Given the description of an element on the screen output the (x, y) to click on. 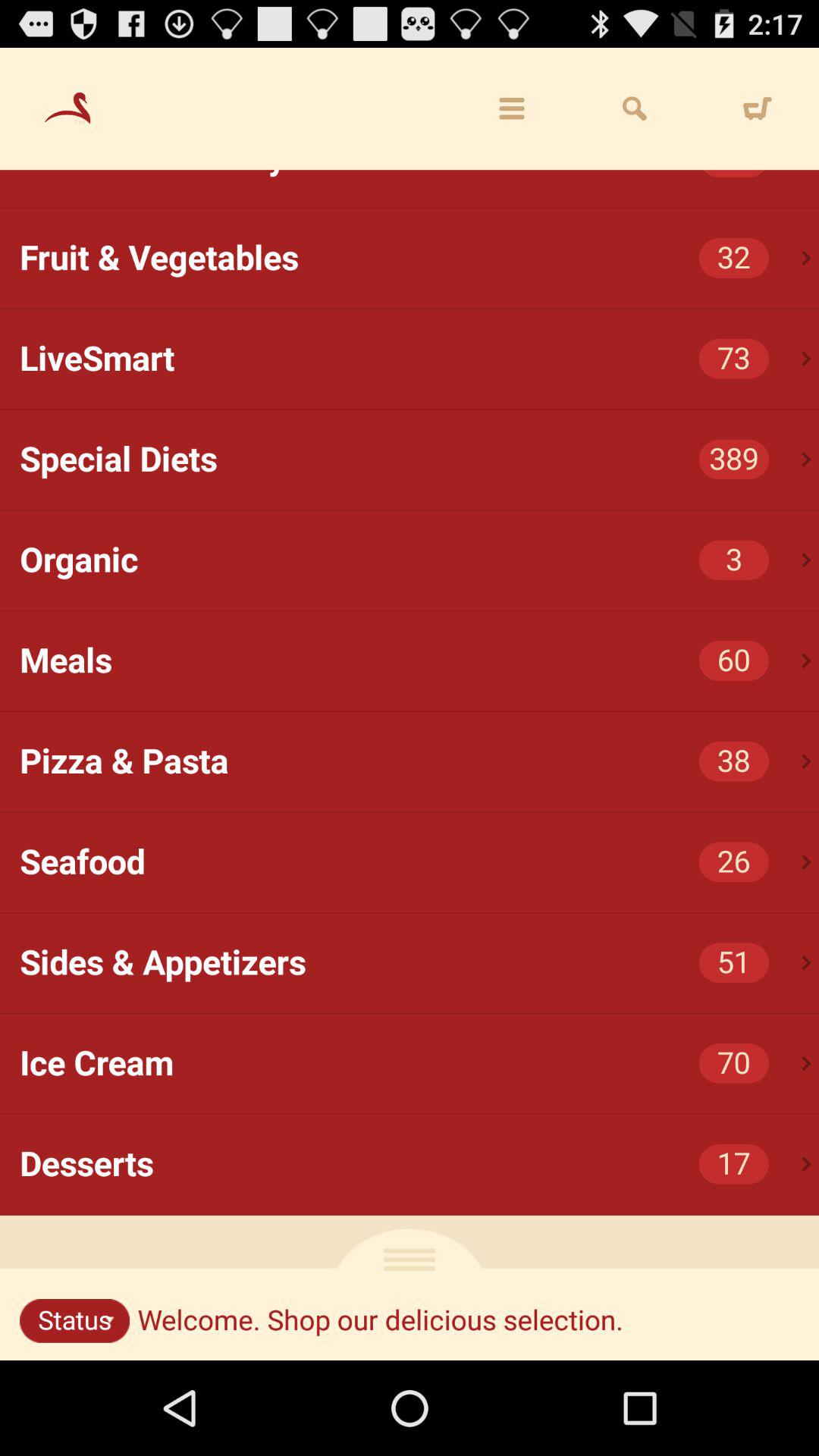
jump until 17 item (733, 1164)
